Given the description of an element on the screen output the (x, y) to click on. 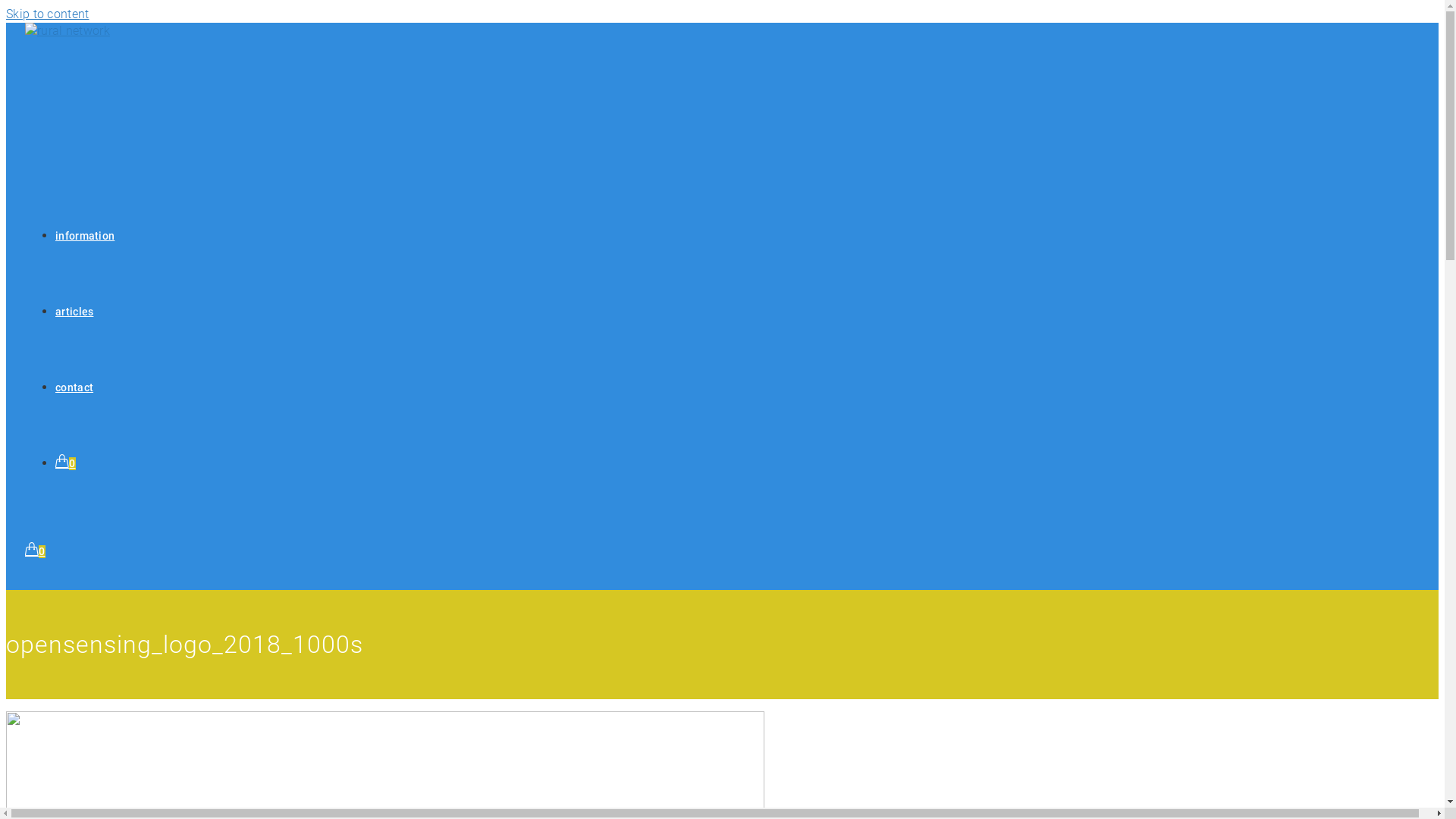
0 Element type: text (35, 551)
Skip to content Element type: text (47, 13)
0 Element type: text (65, 463)
information Element type: text (84, 235)
contact Element type: text (74, 387)
articles Element type: text (74, 311)
